Given the description of an element on the screen output the (x, y) to click on. 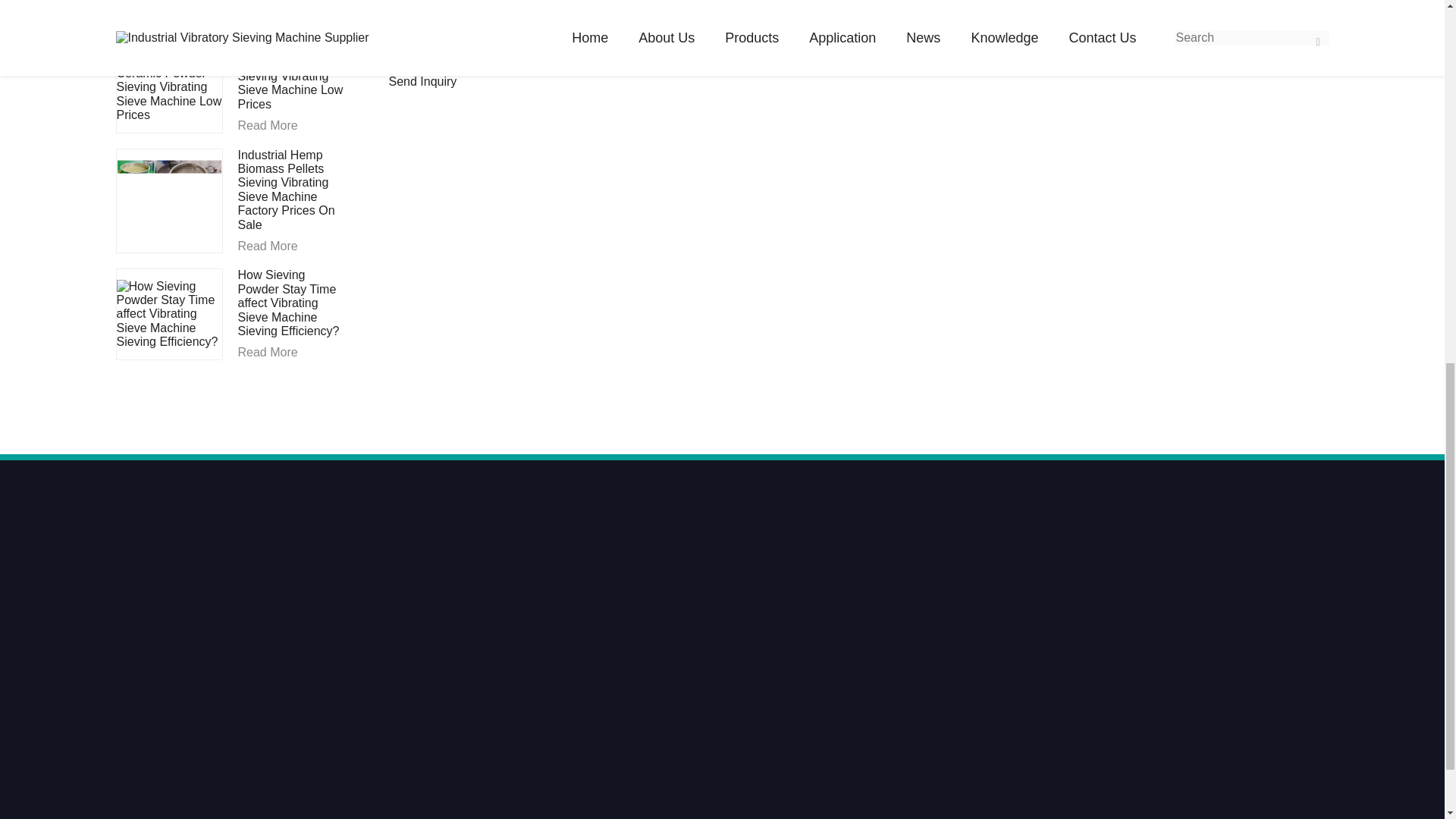
Read More (290, 19)
